Given the description of an element on the screen output the (x, y) to click on. 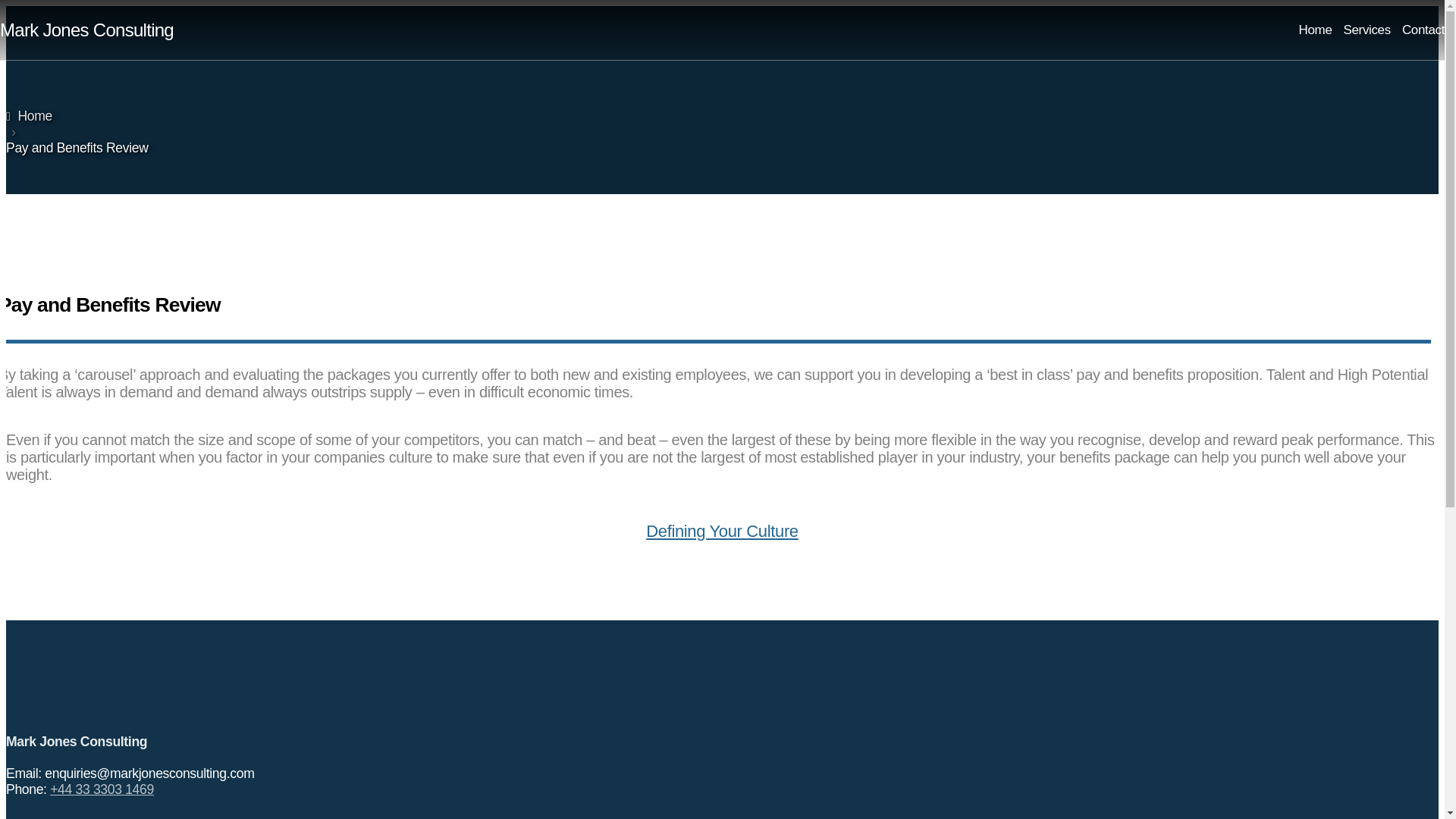
Mark Jones Consulting (86, 30)
Defining Your Culture (721, 530)
Services (1366, 30)
Home (1315, 30)
Home (28, 115)
